Given the description of an element on the screen output the (x, y) to click on. 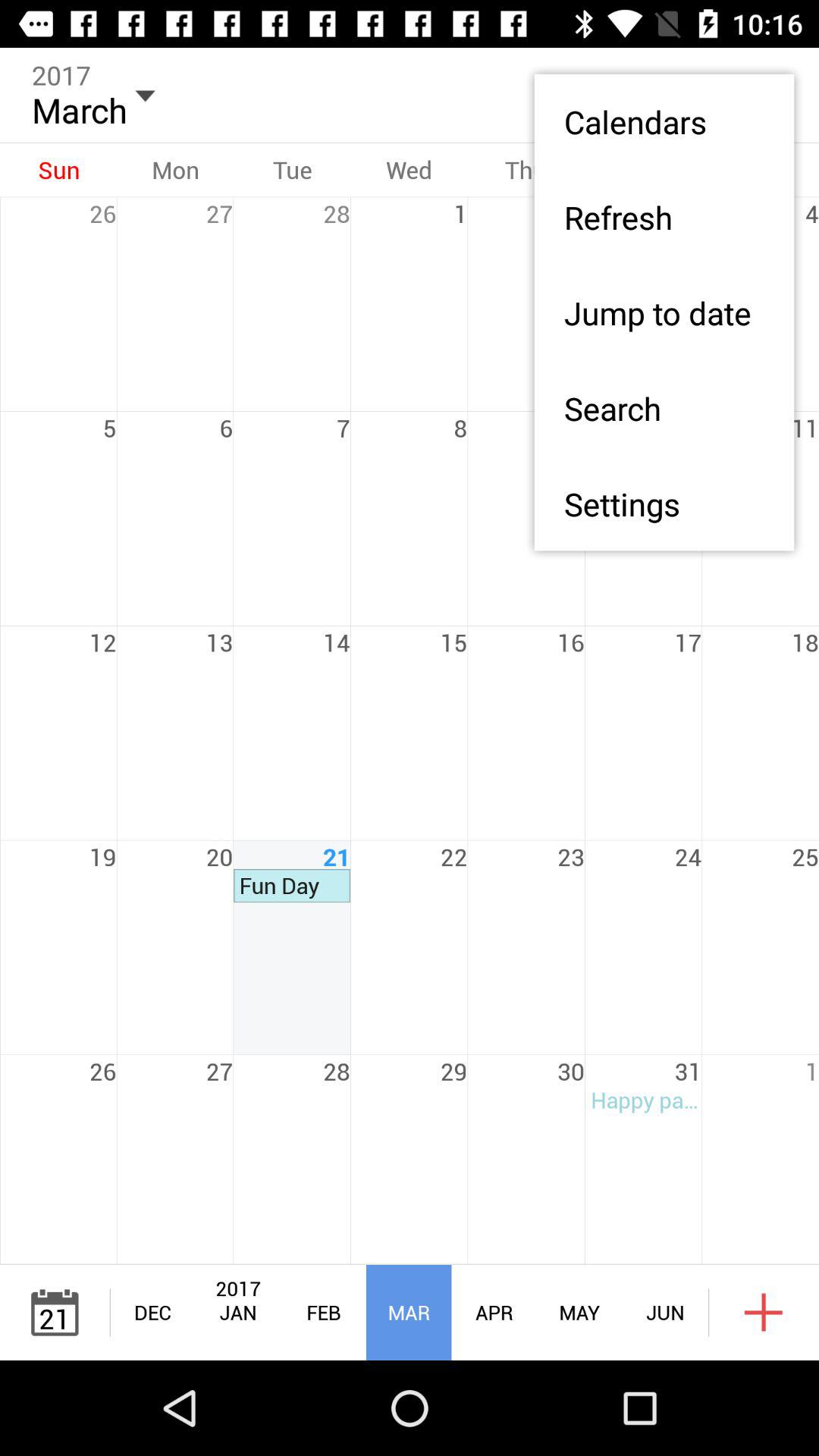
flip until the search (664, 408)
